Given the description of an element on the screen output the (x, y) to click on. 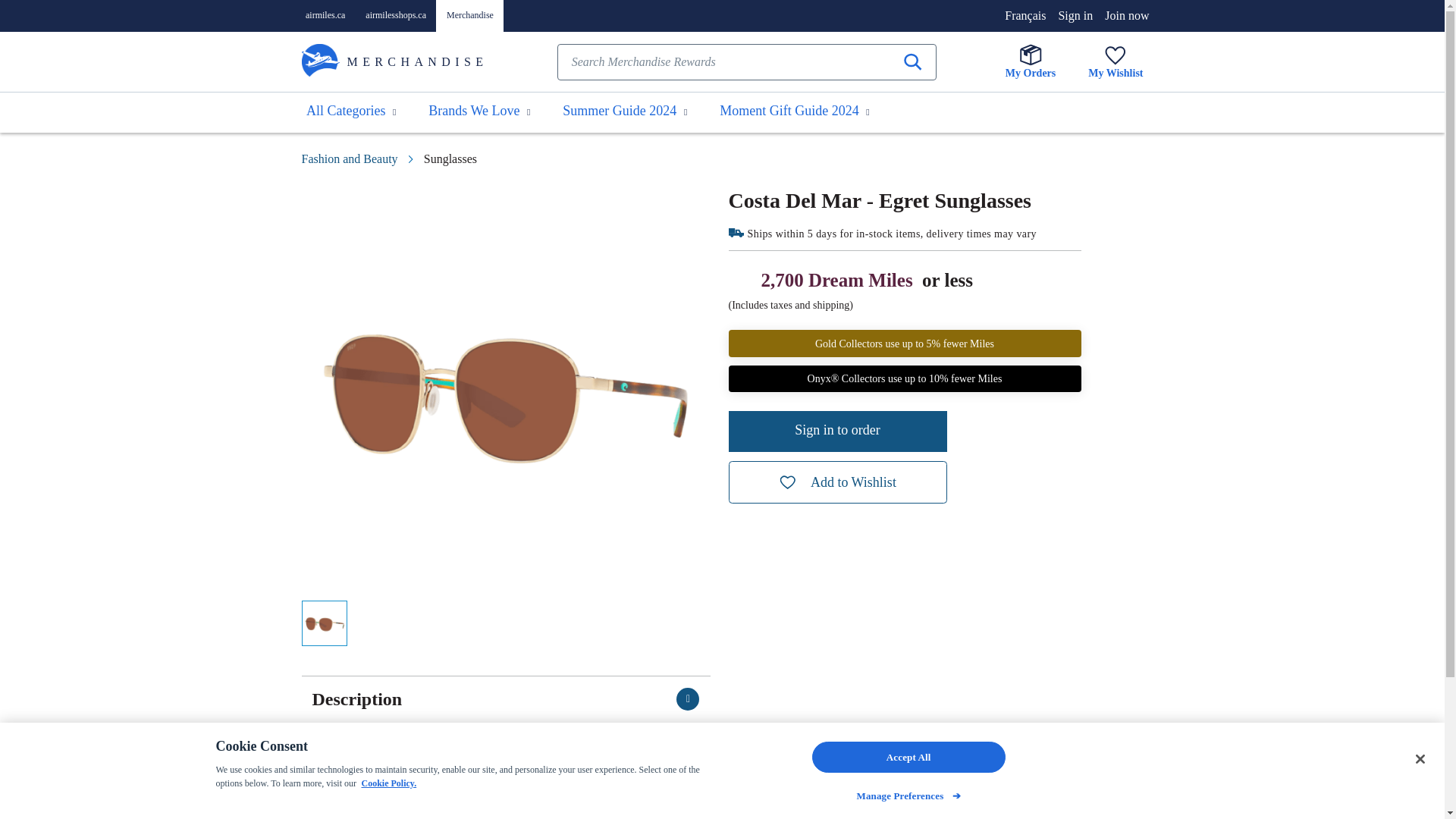
Merchandise (469, 15)
Join now (1126, 15)
My Wishlist (1114, 61)
Sign in (1075, 15)
My Orders (1030, 61)
All Categories (351, 112)
airmilesshops.ca (395, 15)
airmiles.ca (325, 15)
MERCHANDISE (417, 61)
